Given the description of an element on the screen output the (x, y) to click on. 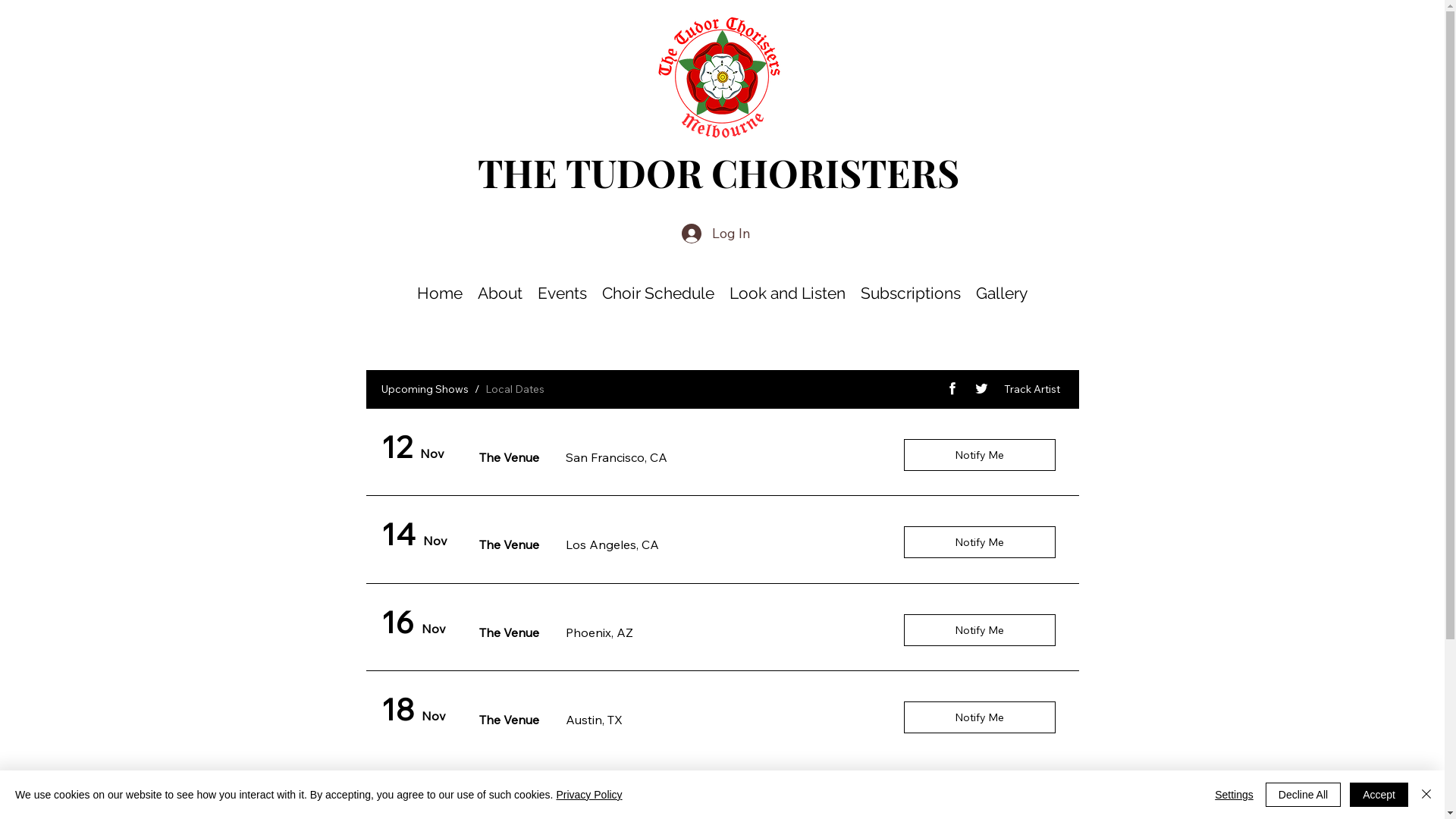
THE TUDOR CHORISTERS Element type: text (718, 172)
About Element type: text (500, 292)
Events Element type: text (562, 292)
Decline All Element type: text (1302, 794)
Bandsintown Element type: hover (721, 559)
Subscriptions Element type: text (910, 292)
Home Element type: text (439, 292)
Log In Element type: text (716, 233)
Accept Element type: text (1378, 794)
Look and Listen Element type: text (787, 292)
Privacy Policy Element type: text (588, 794)
Gallery Element type: text (1001, 292)
Choir Schedule Element type: text (657, 292)
